Given the description of an element on the screen output the (x, y) to click on. 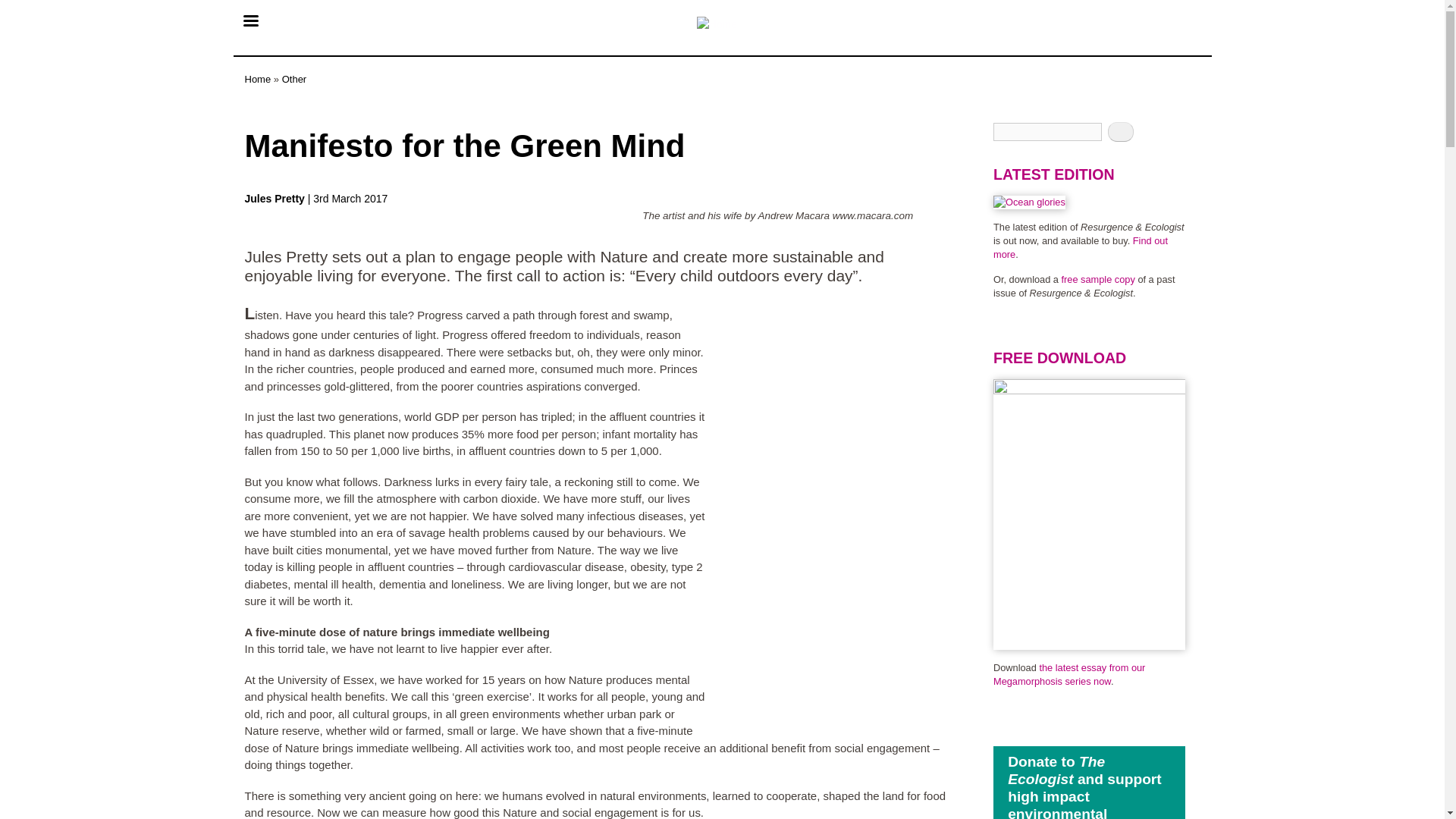
Search (1121, 131)
Skip to main content (722, 1)
MENU (249, 22)
the latest essay from our Megamorphosis series now (1068, 674)
Find out more (1079, 247)
Search (1121, 131)
Other (294, 79)
Menu (249, 22)
Friday, March 3, 2017 - 00:00 (350, 198)
free sample copy (1098, 279)
Jules Pretty (275, 198)
Home (257, 79)
Search (1121, 131)
